Given the description of an element on the screen output the (x, y) to click on. 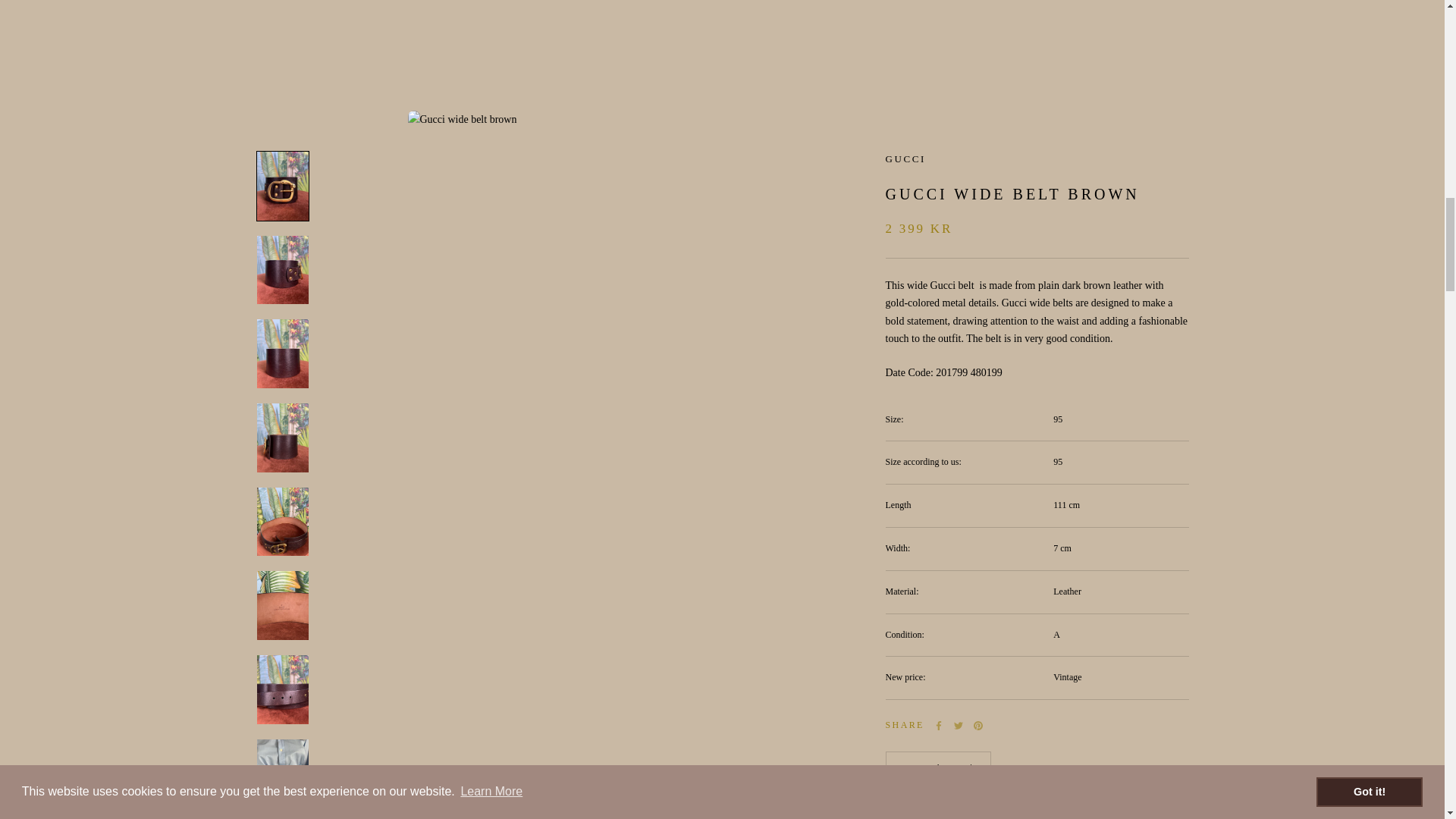
1 (938, 200)
